Given the description of an element on the screen output the (x, y) to click on. 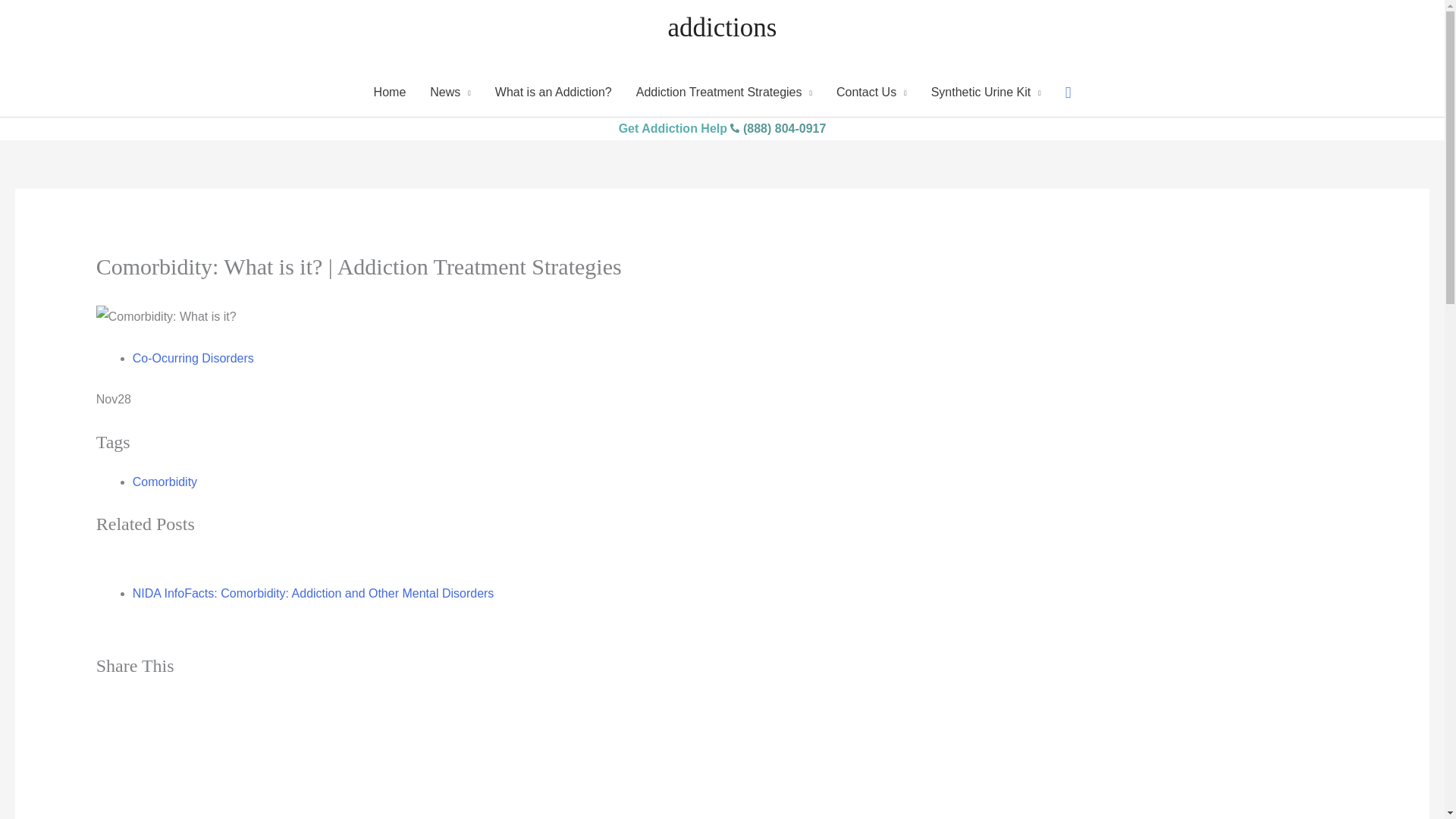
Contact Us (871, 92)
News (450, 92)
Addiction Treatment Strategies (724, 92)
What is an Addiction? (553, 92)
Synthetic Urine Kit (985, 92)
Comorbidity (164, 481)
addictions (722, 27)
Co-Ocurring Disorders (192, 358)
View all posts in Co-Ocurring Disorders (192, 358)
Home (390, 92)
